Given the description of an element on the screen output the (x, y) to click on. 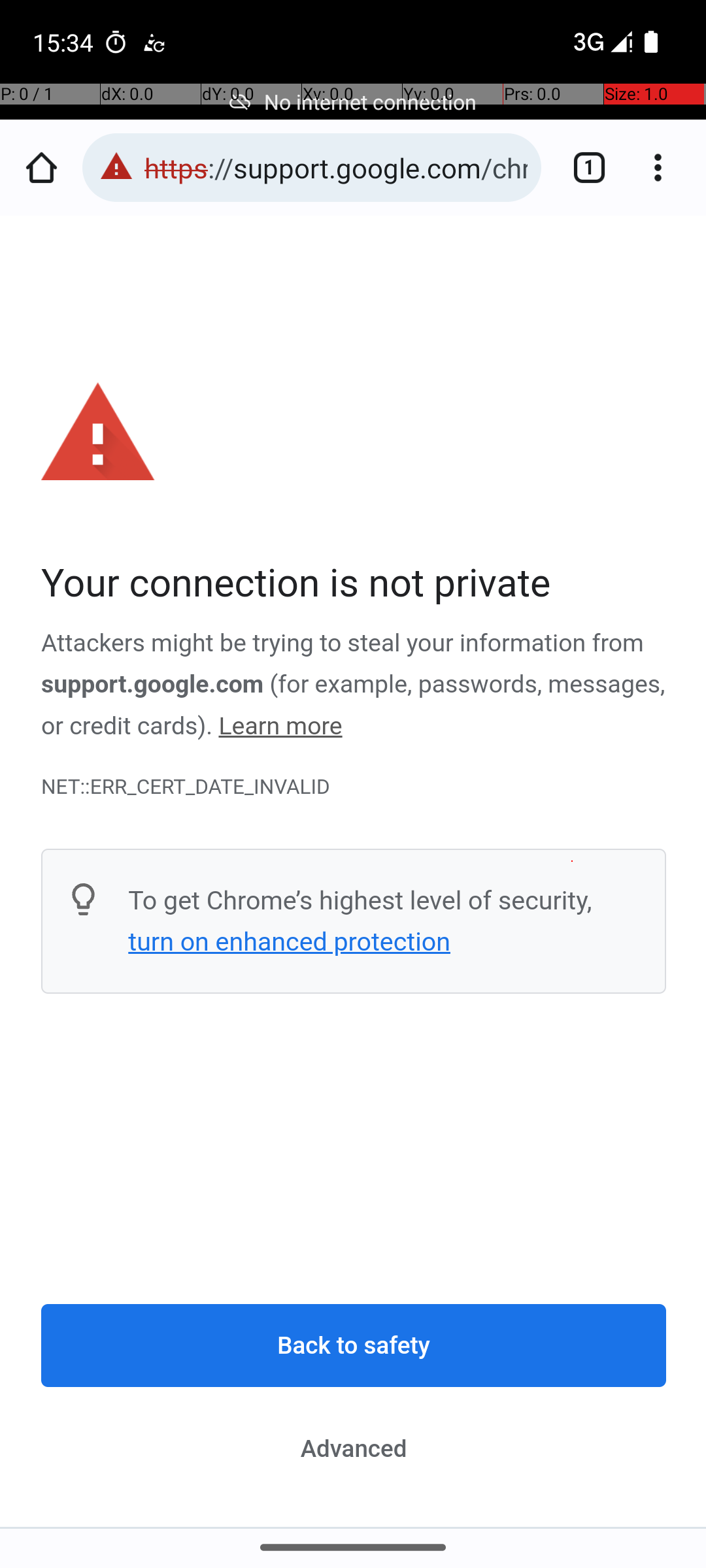
https://support.google.com/chrome/?p=new_tab Element type: android.widget.EditText (335, 167)
support.google.com Element type: android.widget.TextView (152, 684)
